Given the description of an element on the screen output the (x, y) to click on. 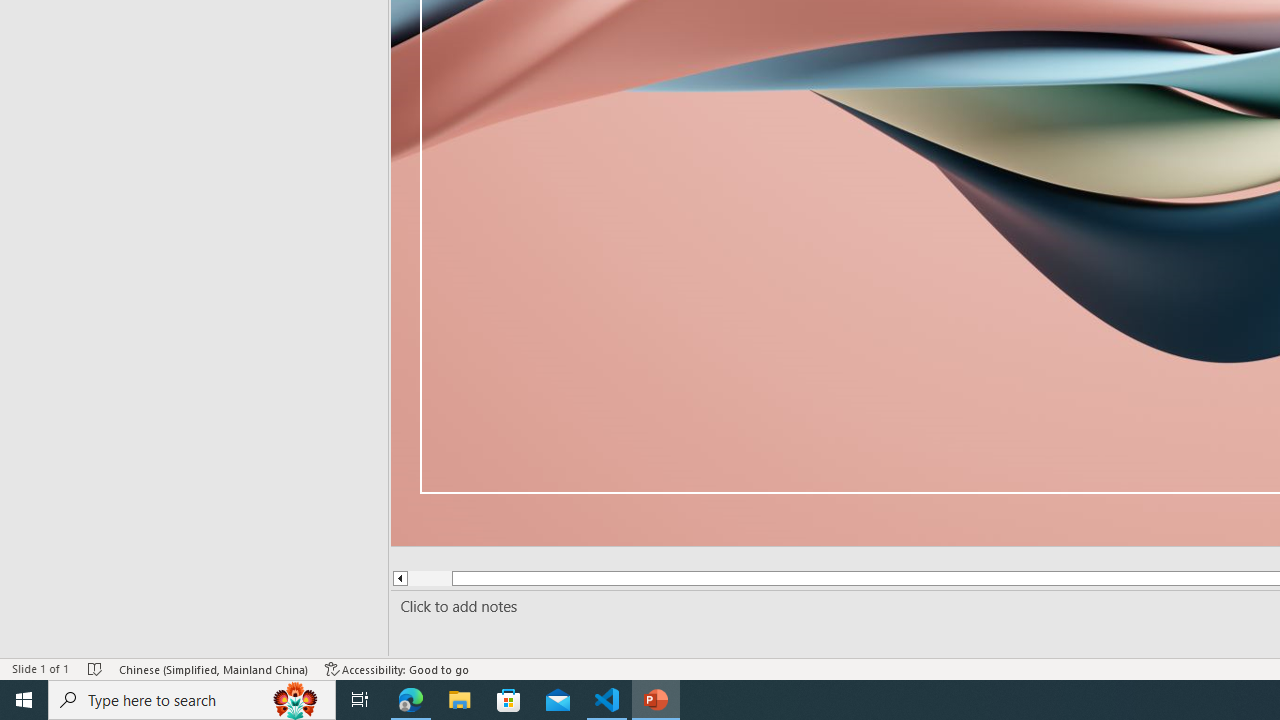
Accessibility Checker Accessibility: Good to go (397, 668)
